Given the description of an element on the screen output the (x, y) to click on. 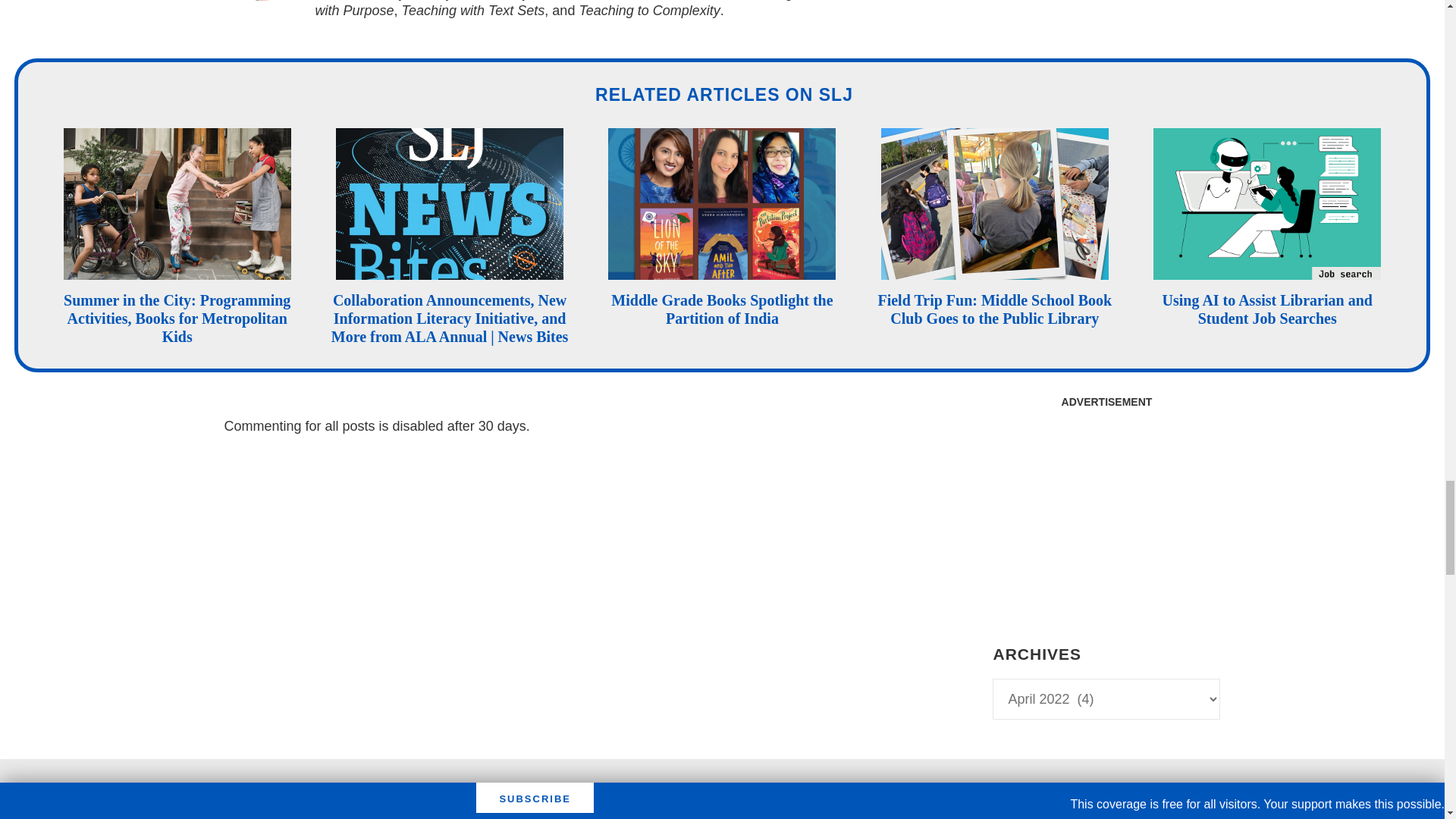
3rd party ad content (721, 798)
3rd party ad content (1106, 511)
